Given the description of an element on the screen output the (x, y) to click on. 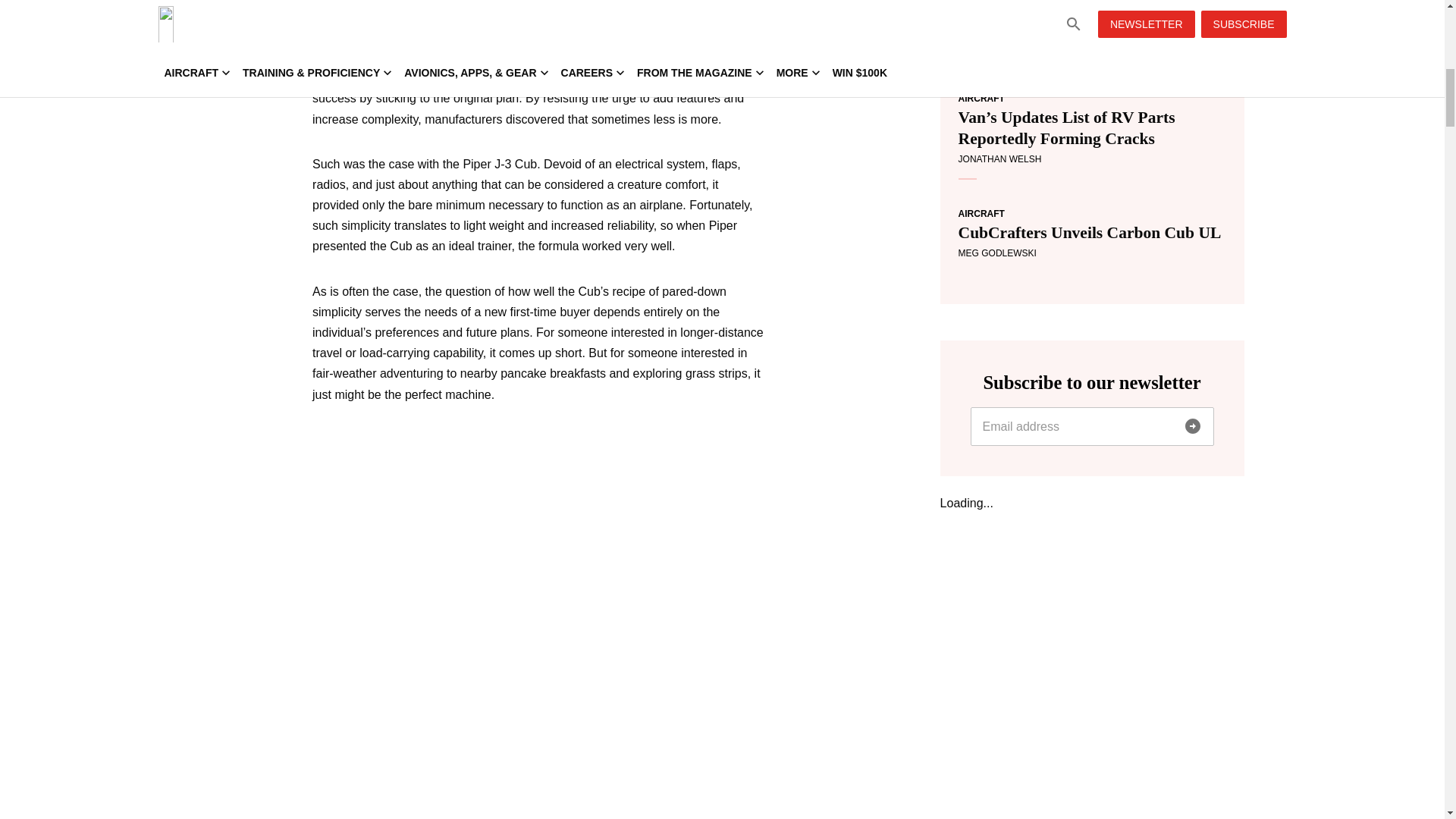
SHARE THIS STORY (806, 11)
Submit (1191, 426)
JONATHAN WELSH (1000, 158)
DAN JOHNSON (991, 43)
AIRCRAFT (981, 98)
MEG GODLEWSKI (997, 253)
CubCrafters Unveils Carbon Cub UL (1091, 232)
AIRCRAFT (981, 213)
